Given the description of an element on the screen output the (x, y) to click on. 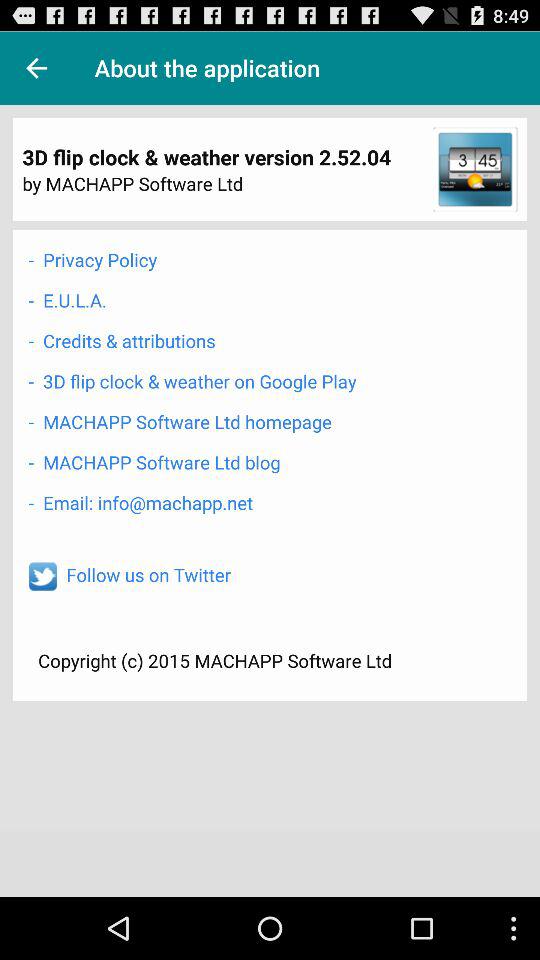
choose the icon above 3d flip clock icon (121, 340)
